Given the description of an element on the screen output the (x, y) to click on. 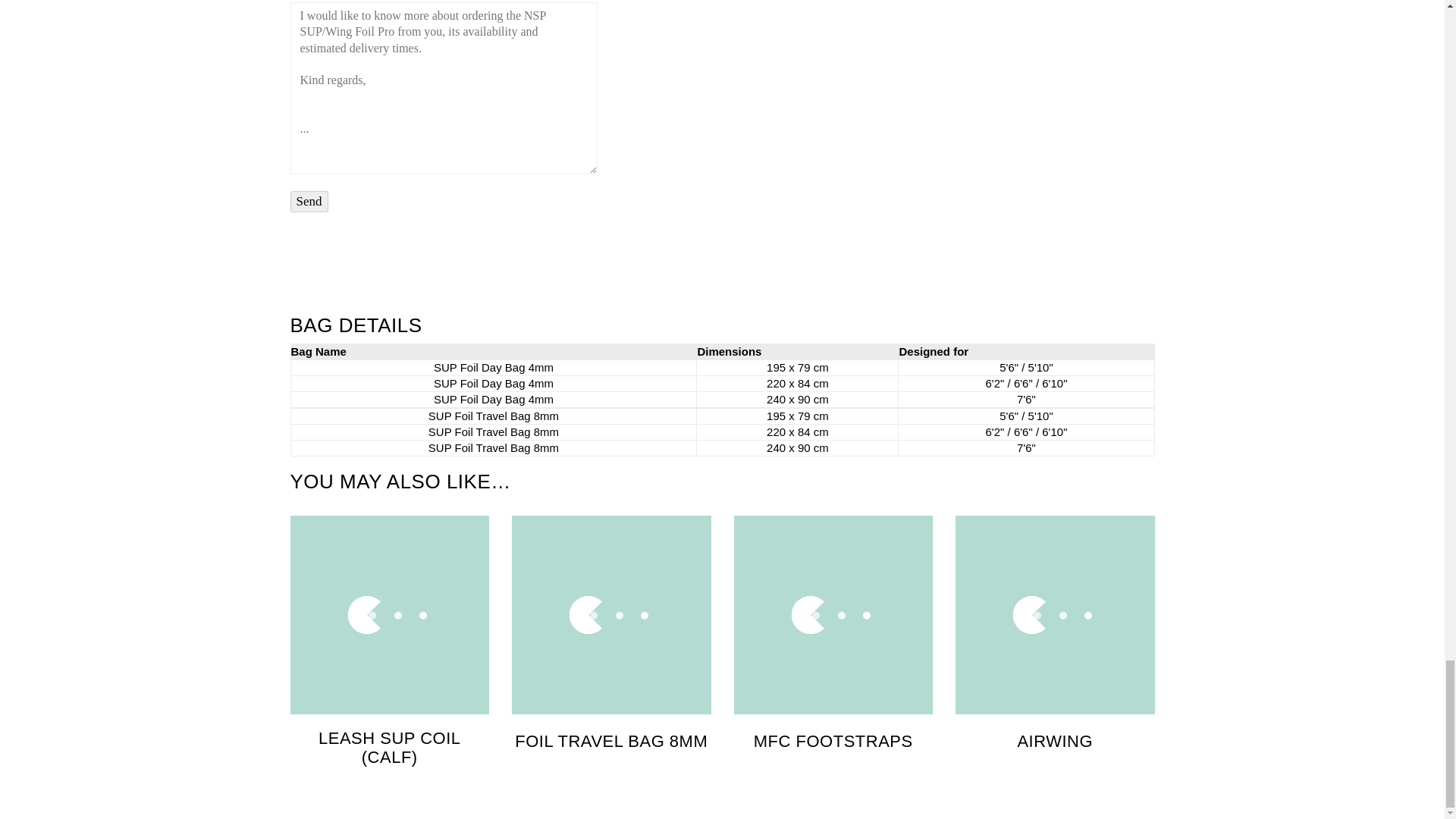
Send (308, 201)
